Given the description of an element on the screen output the (x, y) to click on. 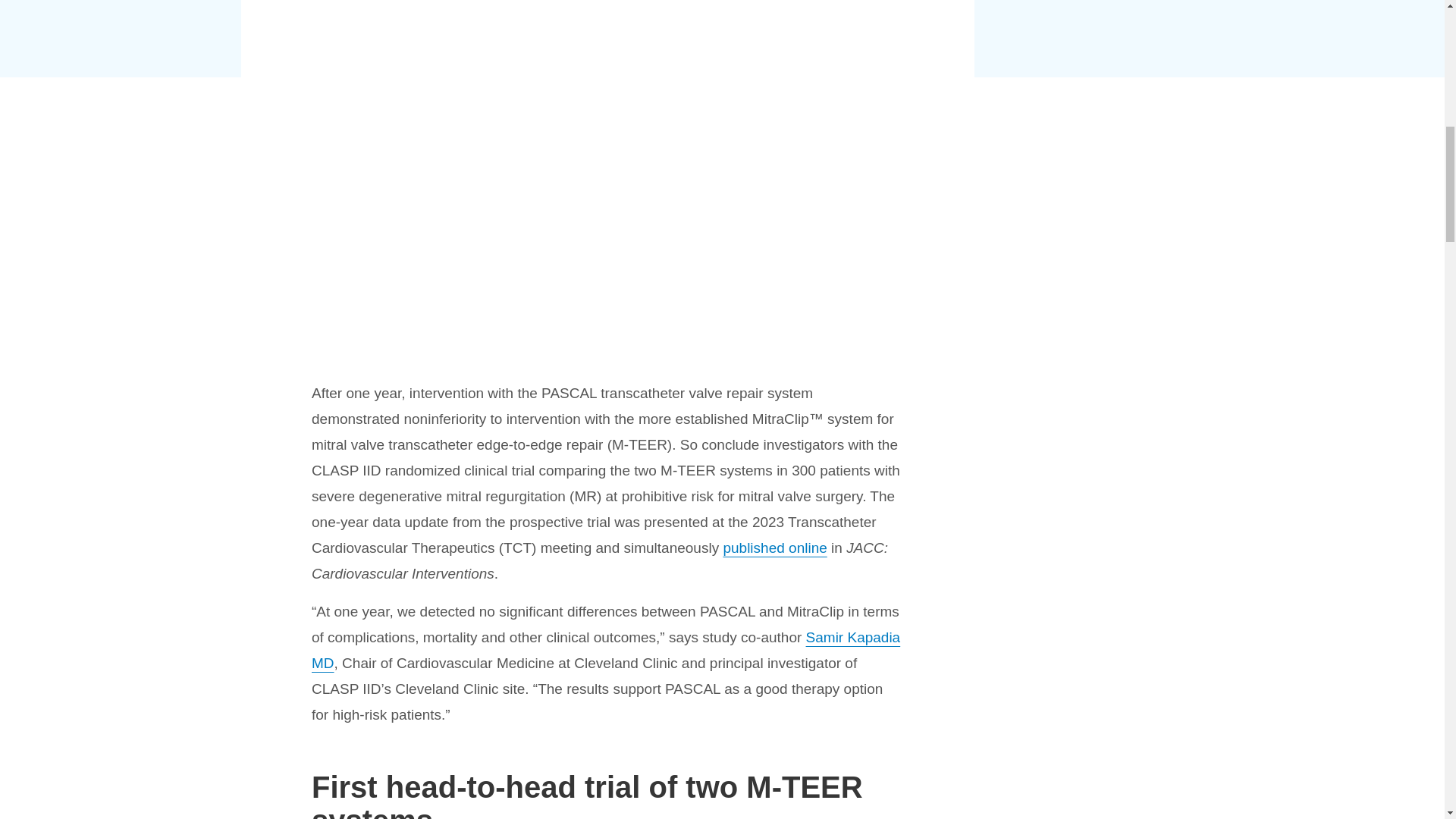
Samir Kapadia MD (605, 649)
published online (774, 547)
